Given the description of an element on the screen output the (x, y) to click on. 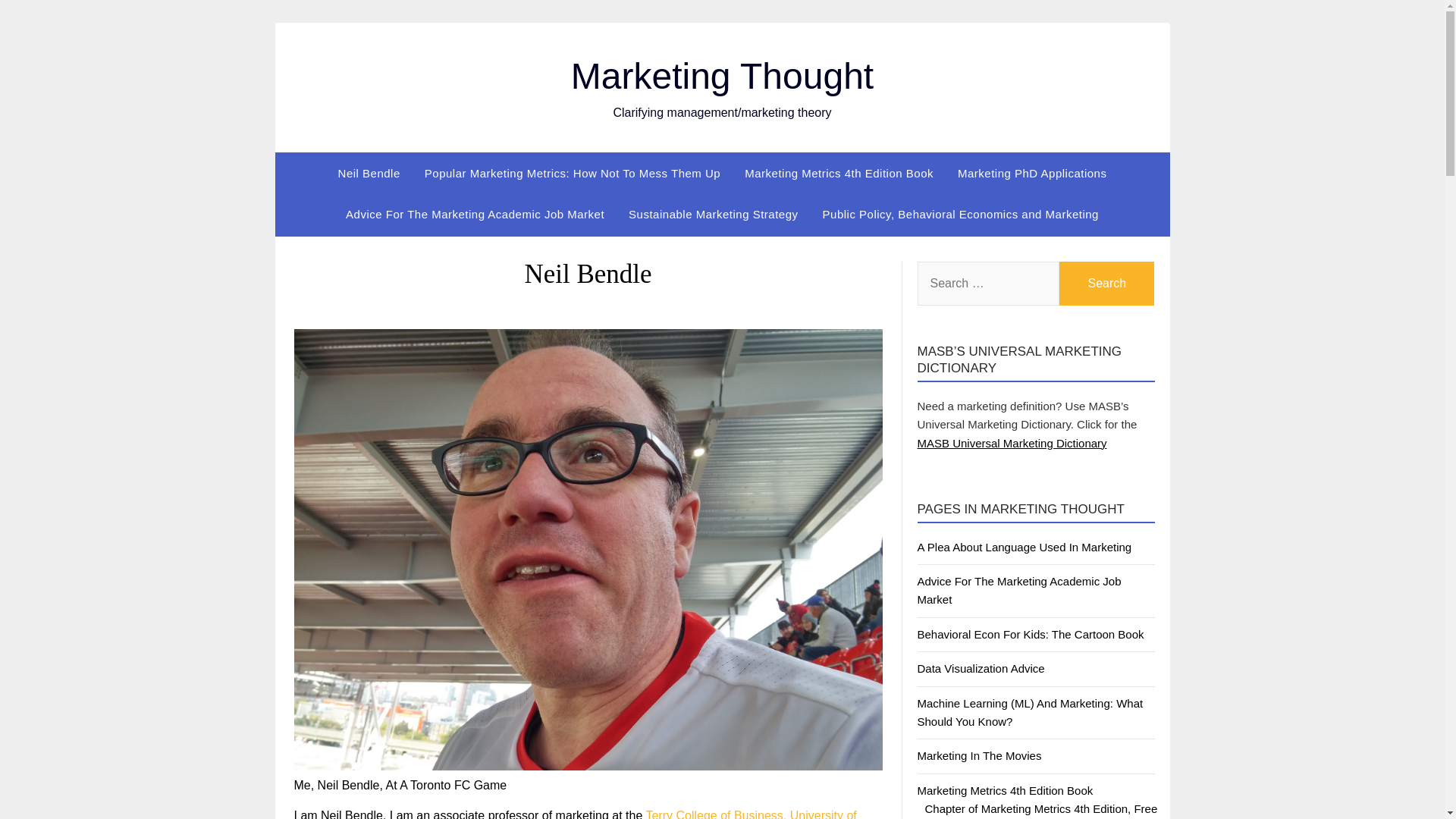
Link to Popular Marketing Metrics Microsite (572, 173)
Marketing PhD Applications (1031, 173)
Advice For The Marketing Academic Job Market (474, 214)
Marketing Thought (721, 76)
Advice For The Marketing Academic Job Market (1019, 590)
Biography of Neil Bendle (369, 173)
Link tp details of our Marketing Metrics book (838, 173)
Search (1106, 283)
Behavioral Econ For Kids: The Cartoon Book (1030, 634)
MASB Universal Marketing Dictionary (1011, 442)
Marketing Metrics 4th Edition Book (838, 173)
Neil Bendle (369, 173)
Link to advice on applying for Marketing Phds (1031, 173)
Search (1106, 283)
Public Policy, Behavioral Economics and Marketing (960, 214)
